Given the description of an element on the screen output the (x, y) to click on. 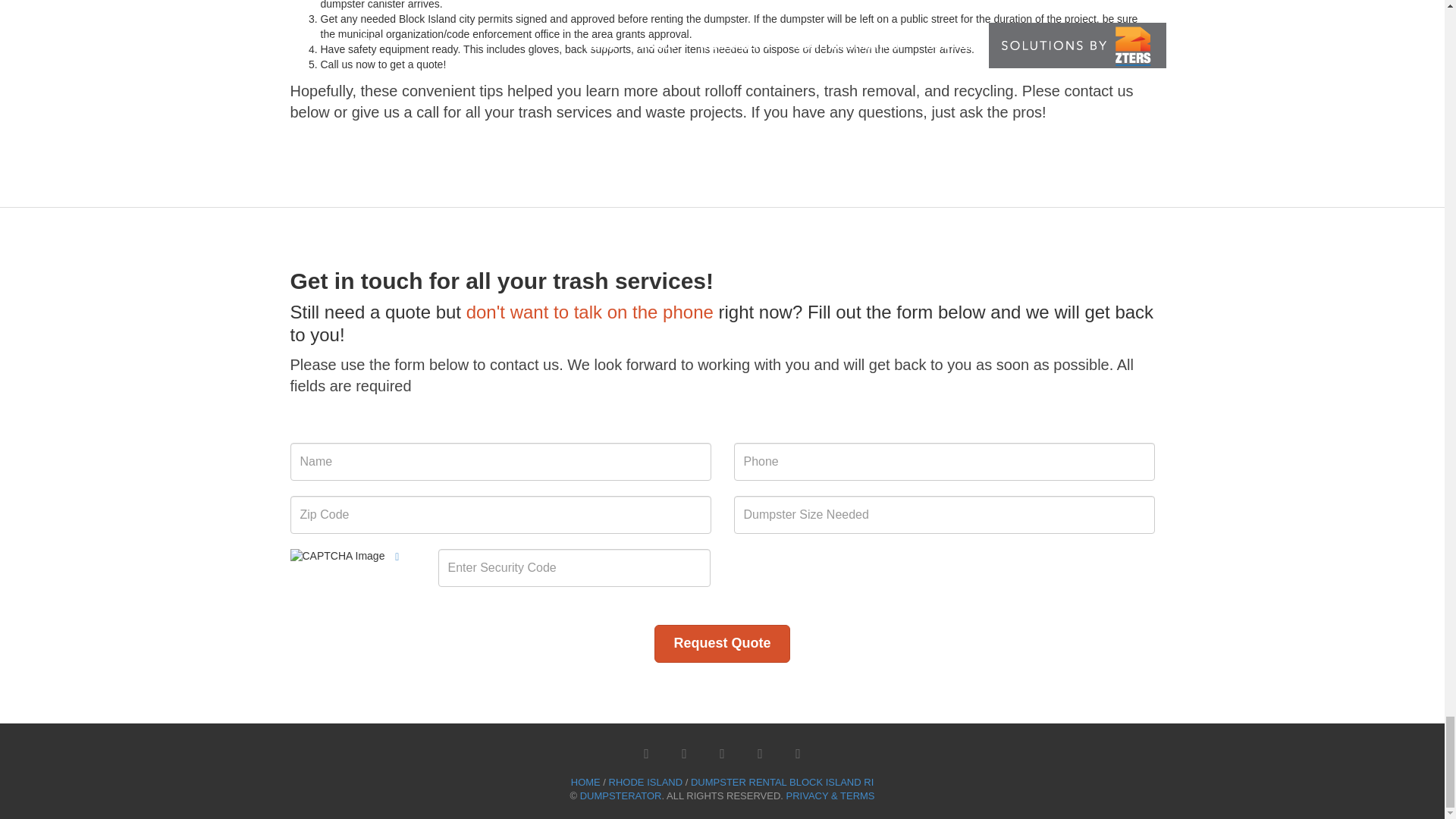
Request Quote (721, 643)
Request Quote (721, 643)
HOME (584, 781)
